Given the description of an element on the screen output the (x, y) to click on. 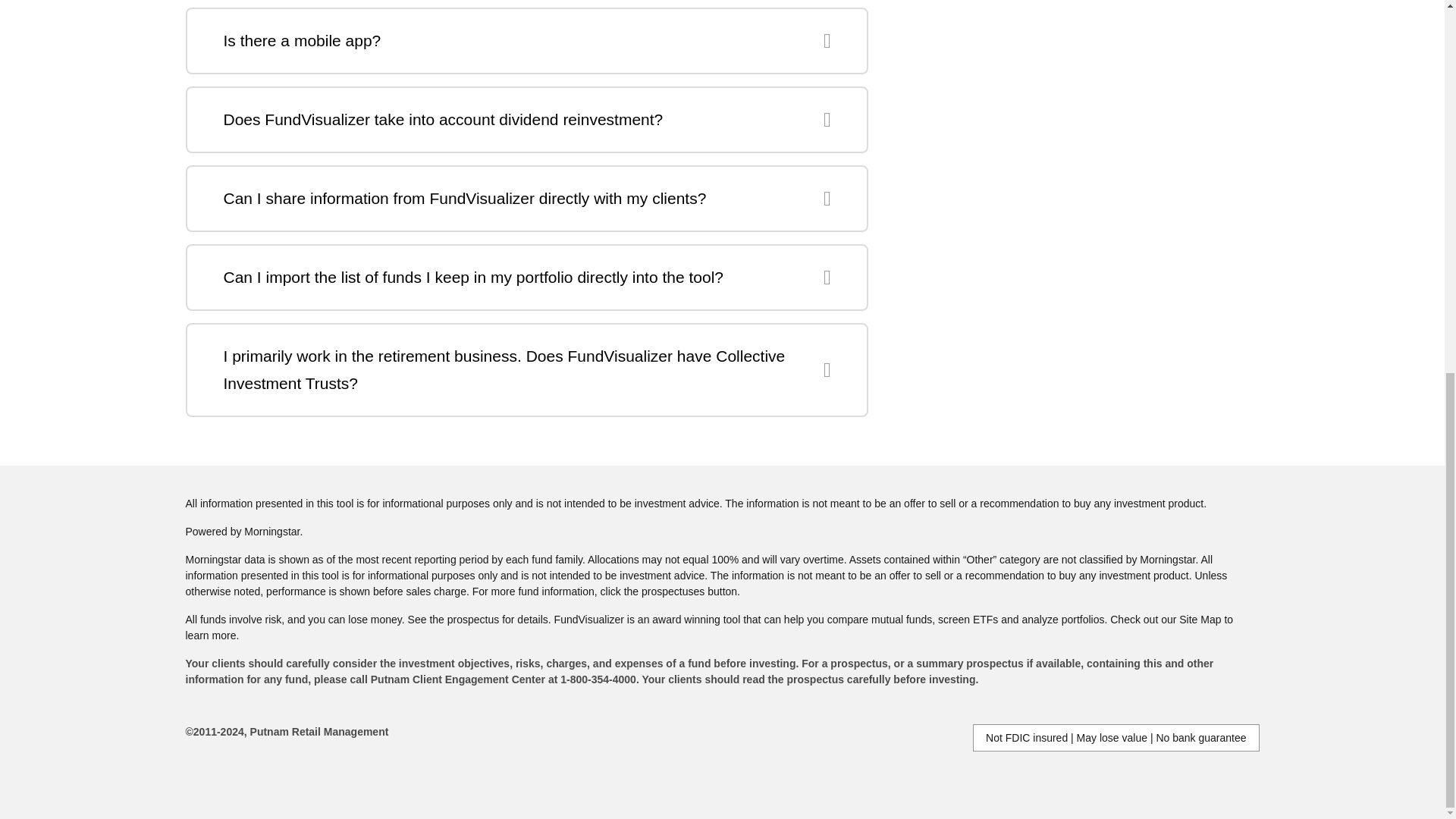
analyze portfolios (1063, 619)
screen ETFs (967, 619)
Is there a mobile app? (525, 40)
compare mutual funds (880, 619)
Does FundVisualizer take into account dividend reinvestment? (525, 119)
Site Map (1200, 619)
